Given the description of an element on the screen output the (x, y) to click on. 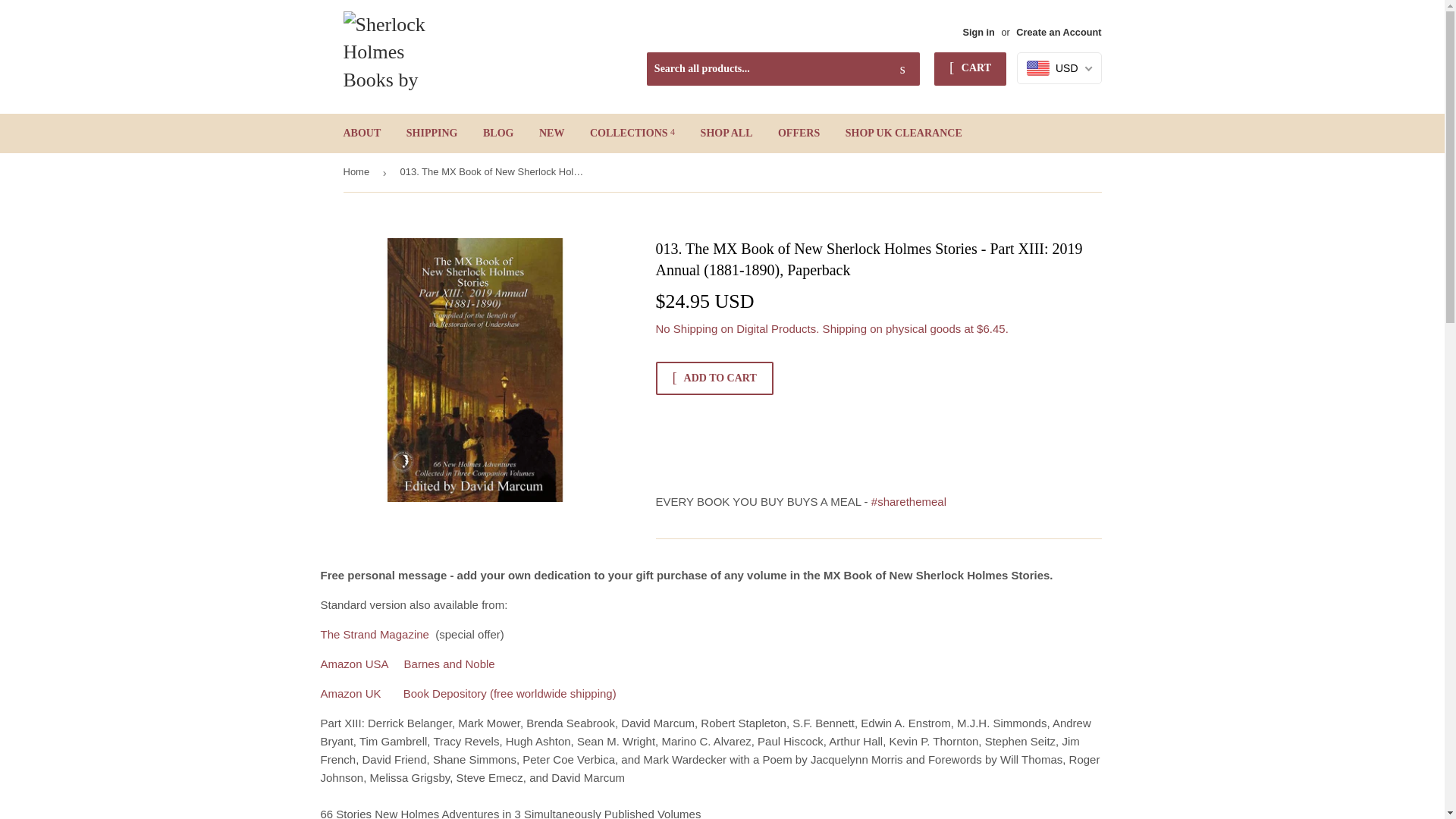
Search (902, 69)
ABOUT (362, 133)
SHIPPING (431, 133)
Sign in (978, 31)
Create an Account (1058, 31)
SHOP UK CLEARANCE (904, 133)
SHOP ALL (726, 133)
OFFERS (799, 133)
BLOG (497, 133)
NEW (551, 133)
